Given the description of an element on the screen output the (x, y) to click on. 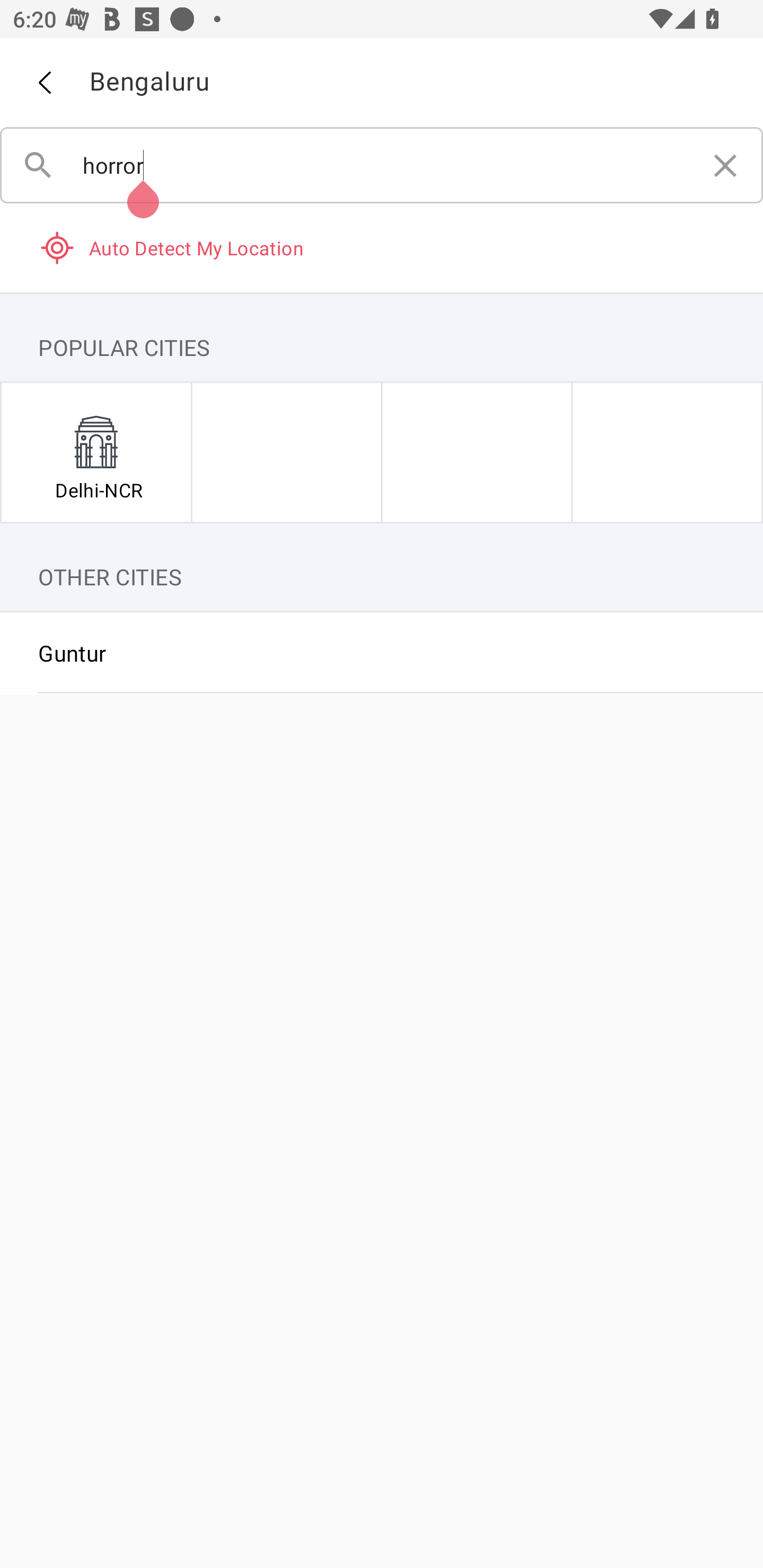
Back (44, 82)
horror (381, 165)
Clear text (724, 165)
Auto Detect My Location (381, 247)
Delhi-NCR (95, 452)
Guntur (381, 653)
